Given the description of an element on the screen output the (x, y) to click on. 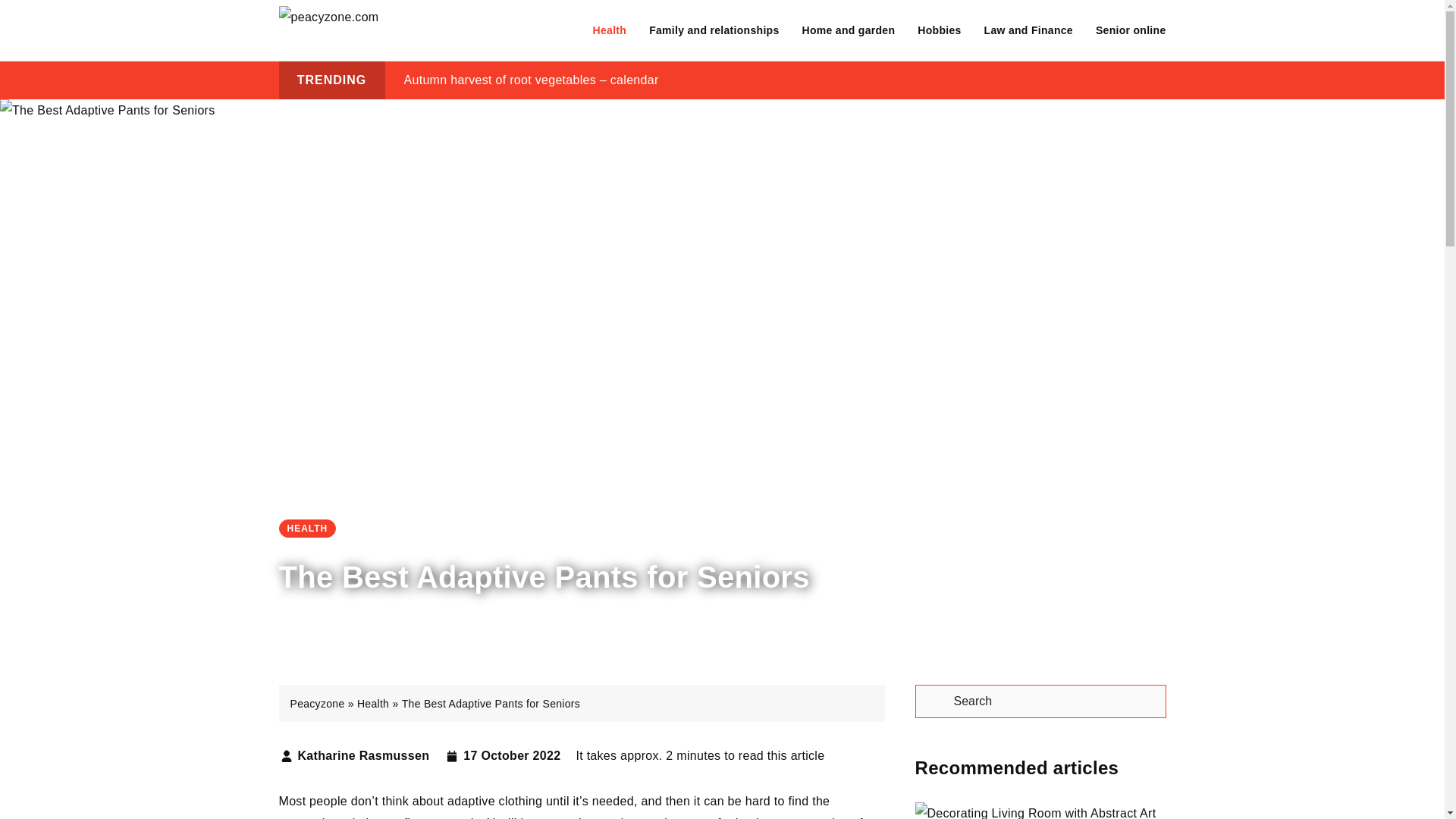
Senior online (1131, 29)
Katharine Rasmussen (363, 756)
Hobbies (938, 29)
Family and relationships (713, 29)
Law and Finance (1028, 29)
HEALTH (307, 528)
Home and garden (848, 29)
Health (609, 29)
